Given the description of an element on the screen output the (x, y) to click on. 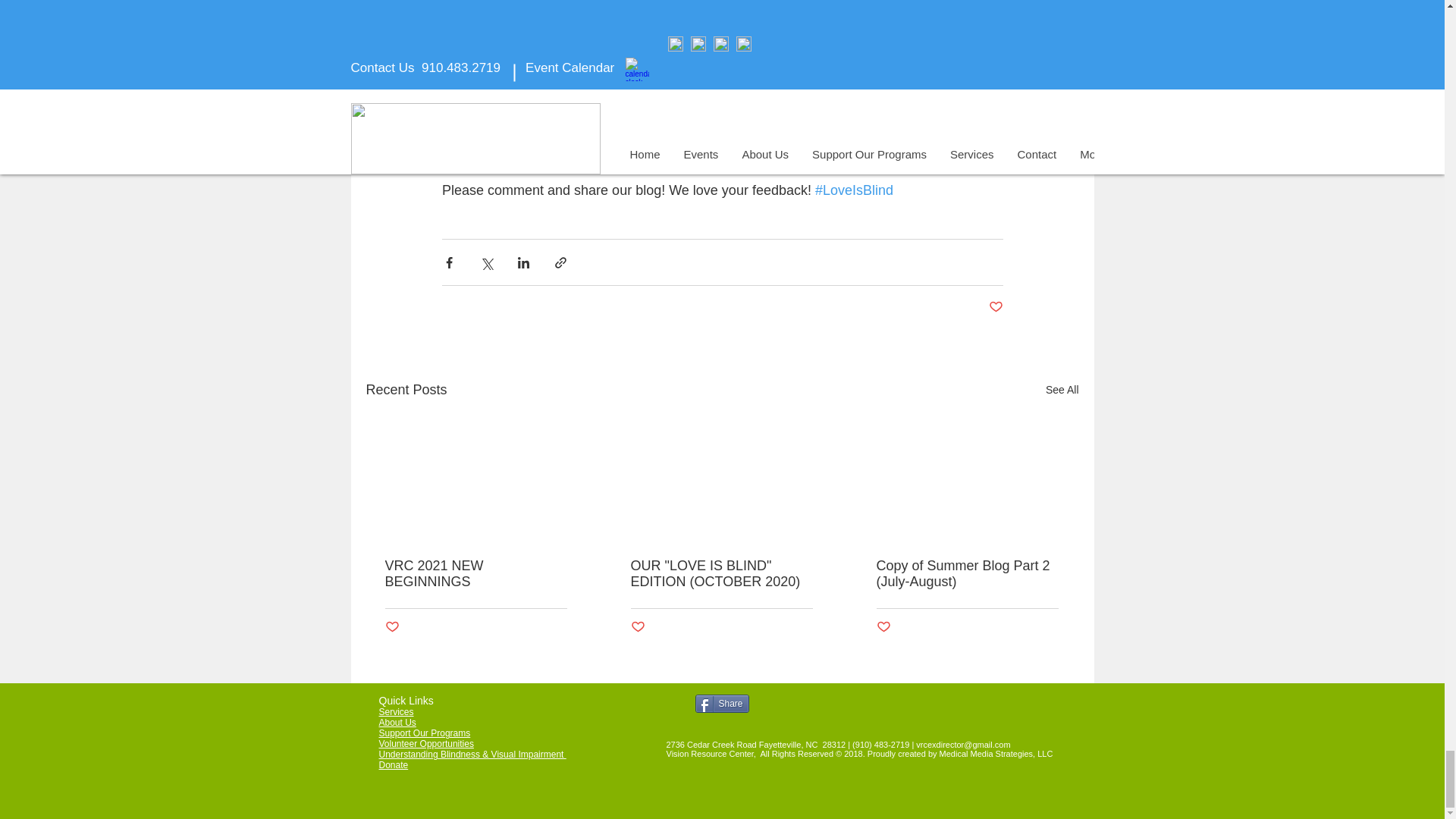
Facebook (722, 117)
Share (721, 703)
www.visionresourcecentercc.org (555, 142)
